Given the description of an element on the screen output the (x, y) to click on. 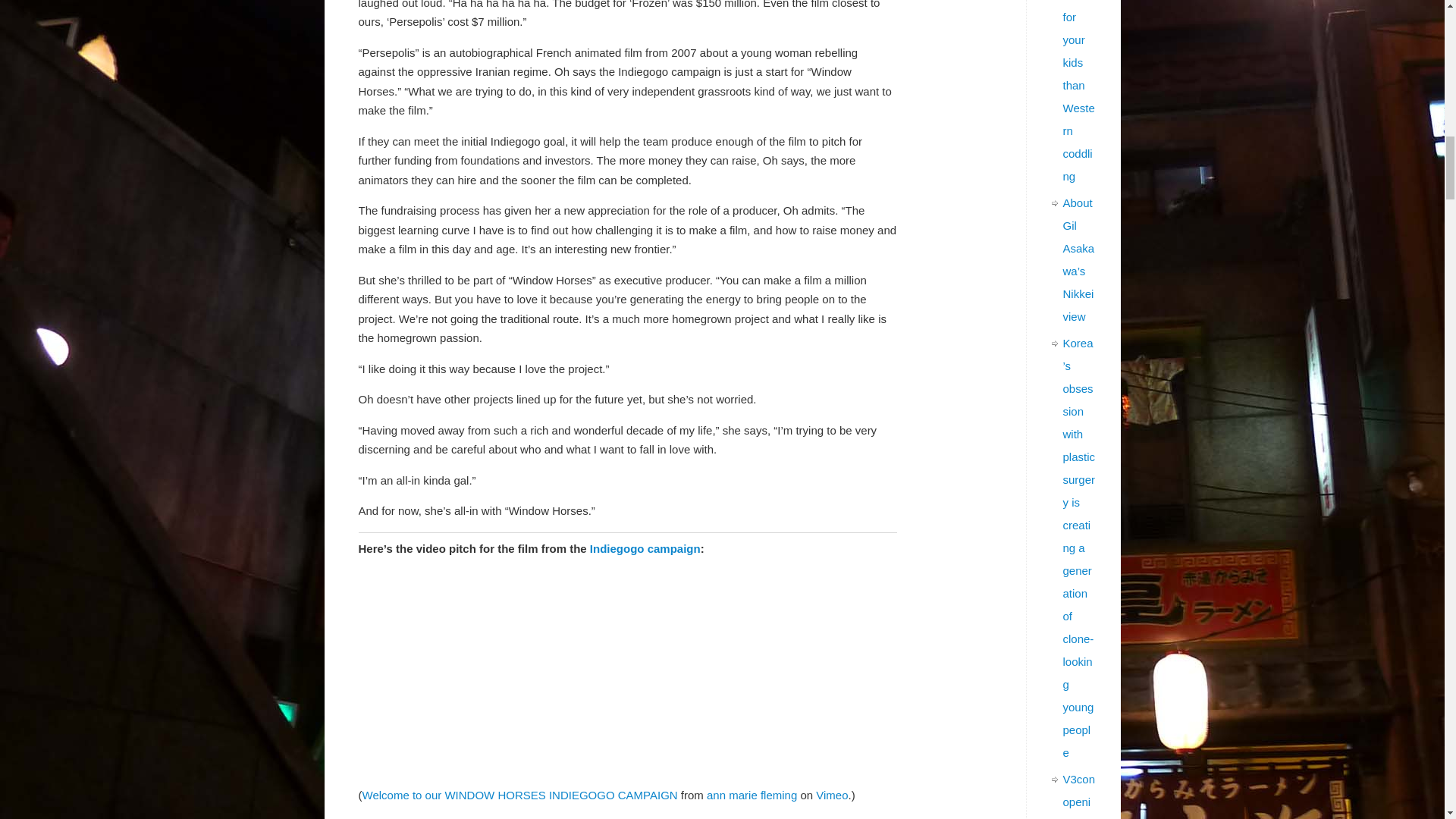
Indiegogo campaign (644, 548)
Welcome to our WINDOW HORSES INDIEGOGO CAMPAIGN (520, 794)
ann marie fleming (751, 794)
Vimeo (831, 794)
